Given the description of an element on the screen output the (x, y) to click on. 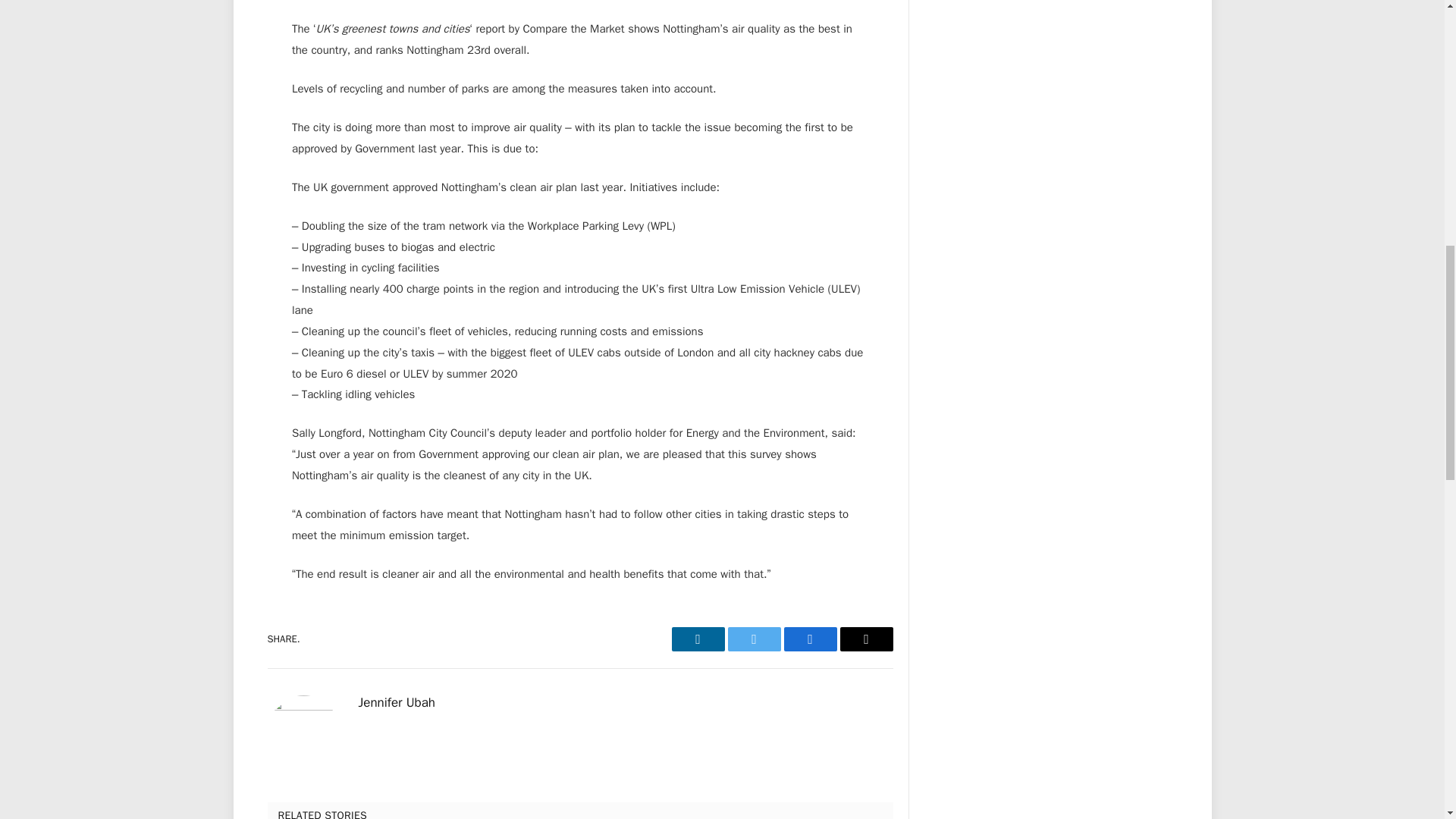
Share on LinkedIn (698, 639)
